Given the description of an element on the screen output the (x, y) to click on. 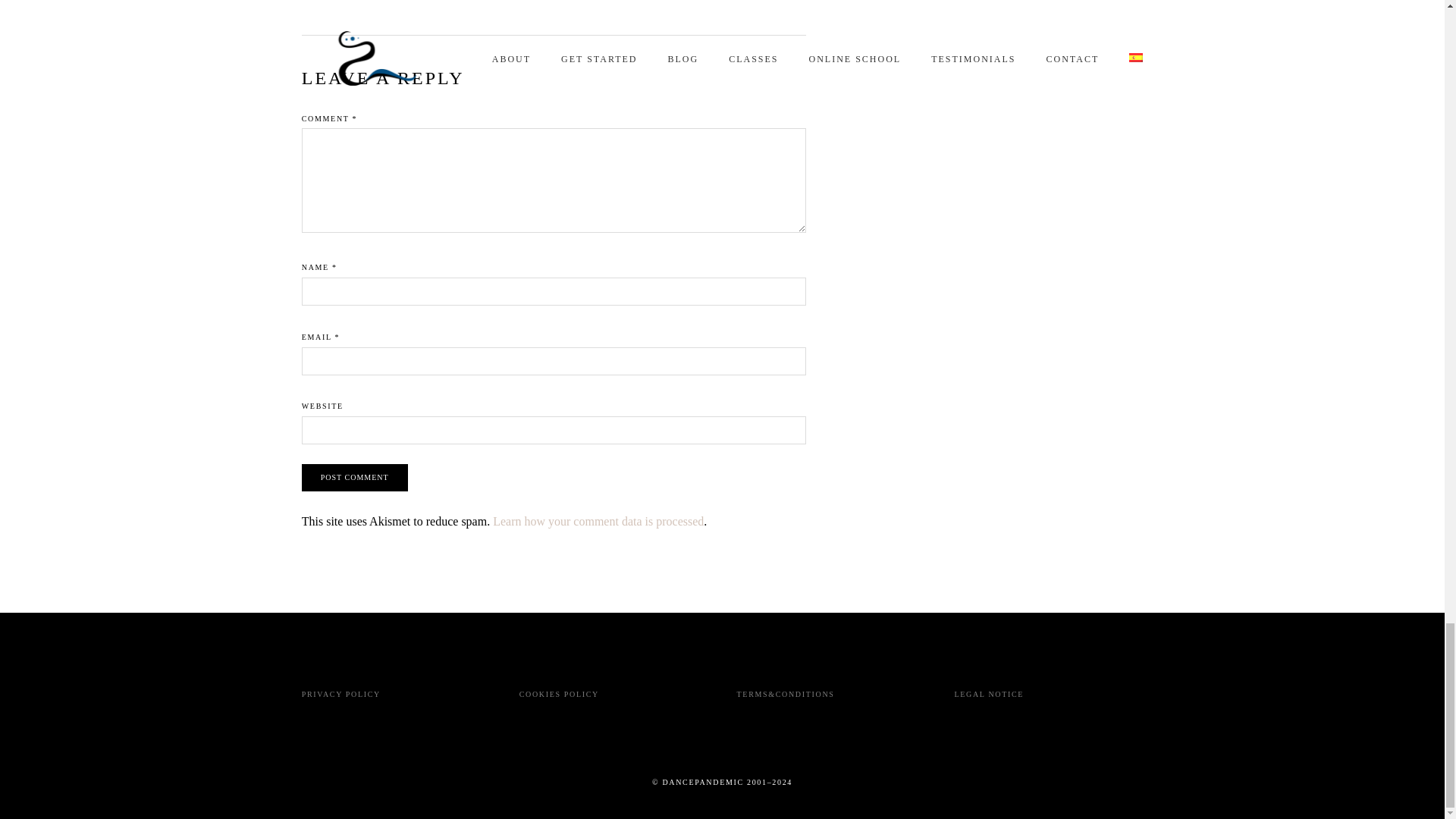
PRIVACY POLICY (340, 694)
Post Comment (354, 477)
COOKIES POLICY (558, 694)
Post Comment (354, 477)
Learn how your comment data is processed (598, 521)
